Given the description of an element on the screen output the (x, y) to click on. 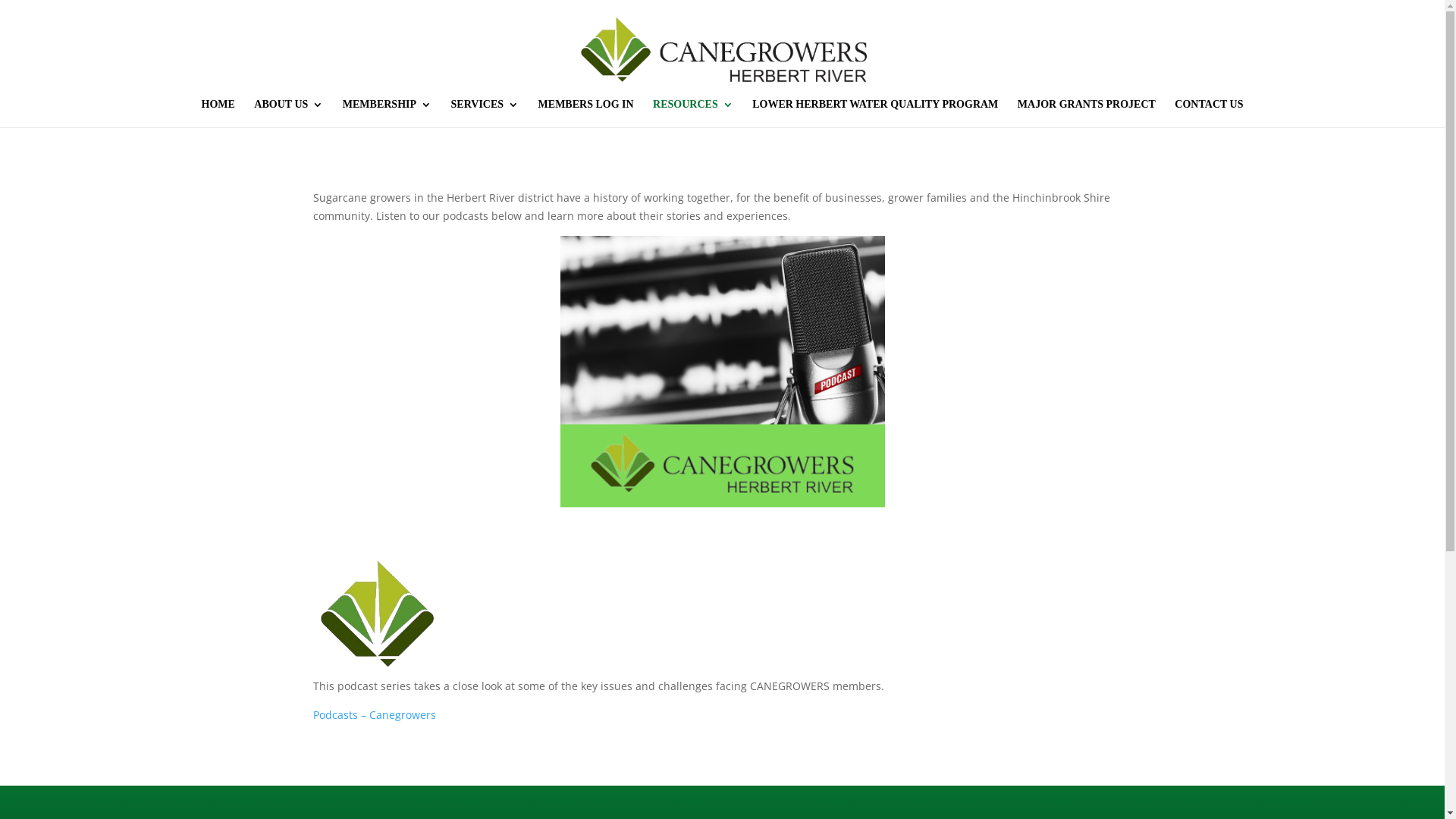
ABOUT US Element type: text (288, 113)
RESOURCES Element type: text (692, 113)
MEMBERS LOG IN Element type: text (585, 113)
LOWER HERBERT WATER QUALITY PROGRAM Element type: text (874, 113)
MAJOR GRANTS PROJECT Element type: text (1086, 113)
HOME Element type: text (218, 113)
MEMBERSHIP Element type: text (386, 113)
CONTACT US Element type: text (1208, 113)
SERVICES Element type: text (485, 113)
